Given the description of an element on the screen output the (x, y) to click on. 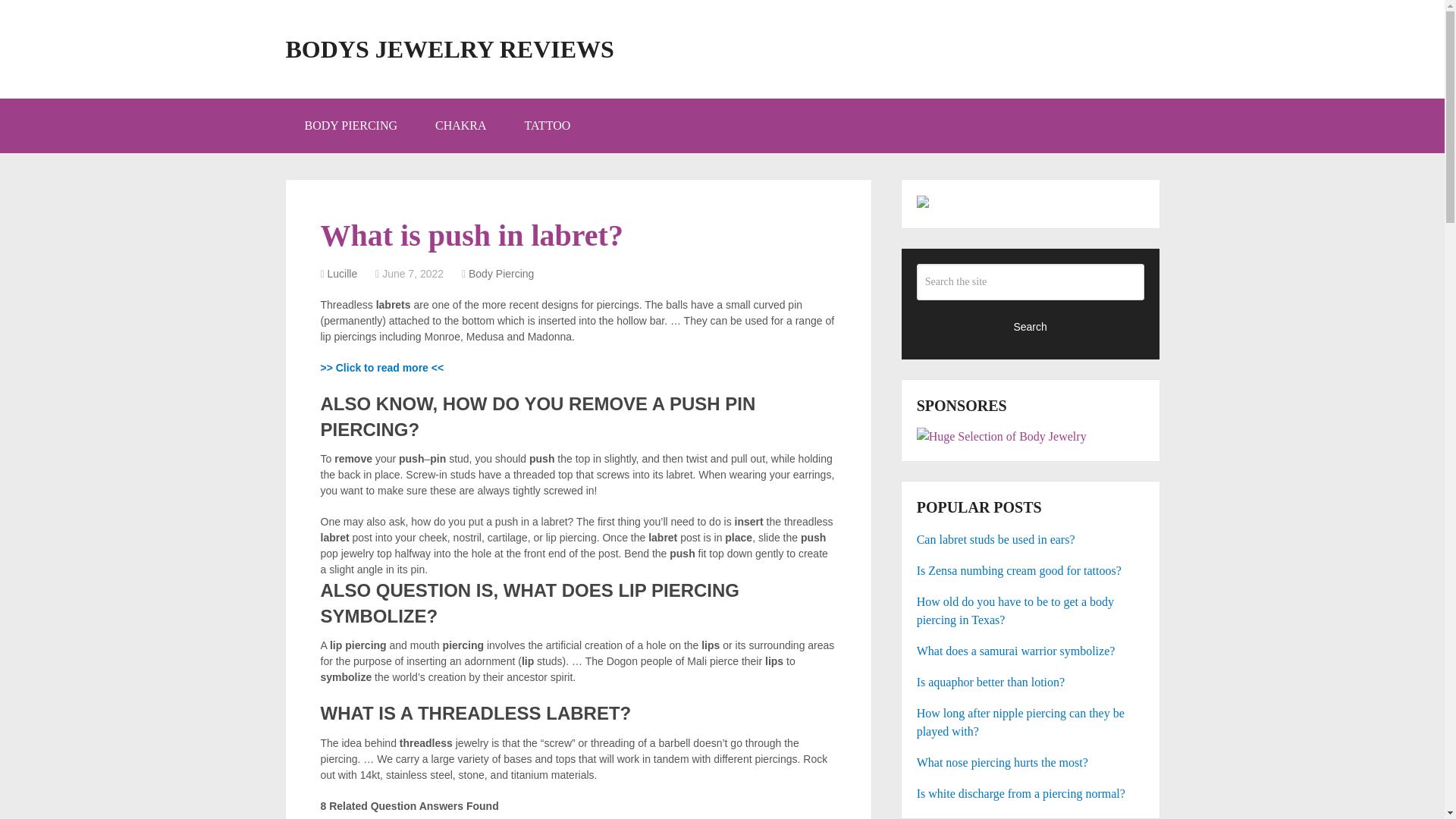
What does a samurai warrior symbolize? (1030, 651)
BODYS JEWELRY REVIEWS (448, 48)
Is aquaphor better than lotion? (1030, 682)
Is Zensa numbing cream good for tattoos? (1030, 570)
Can labret studs be used in ears? (1030, 539)
TATTOO (547, 125)
Is white discharge from a piercing normal? (1030, 793)
BODY PIERCING (350, 125)
Posts by Lucille (342, 273)
What nose piercing hurts the most? (1030, 762)
Is Zensa numbing cream good for tattoos? (1030, 570)
View all posts in Body Piercing (501, 273)
What is push in labret? (382, 367)
How long after nipple piercing can they be played with? (1030, 722)
Lucille (342, 273)
